Given the description of an element on the screen output the (x, y) to click on. 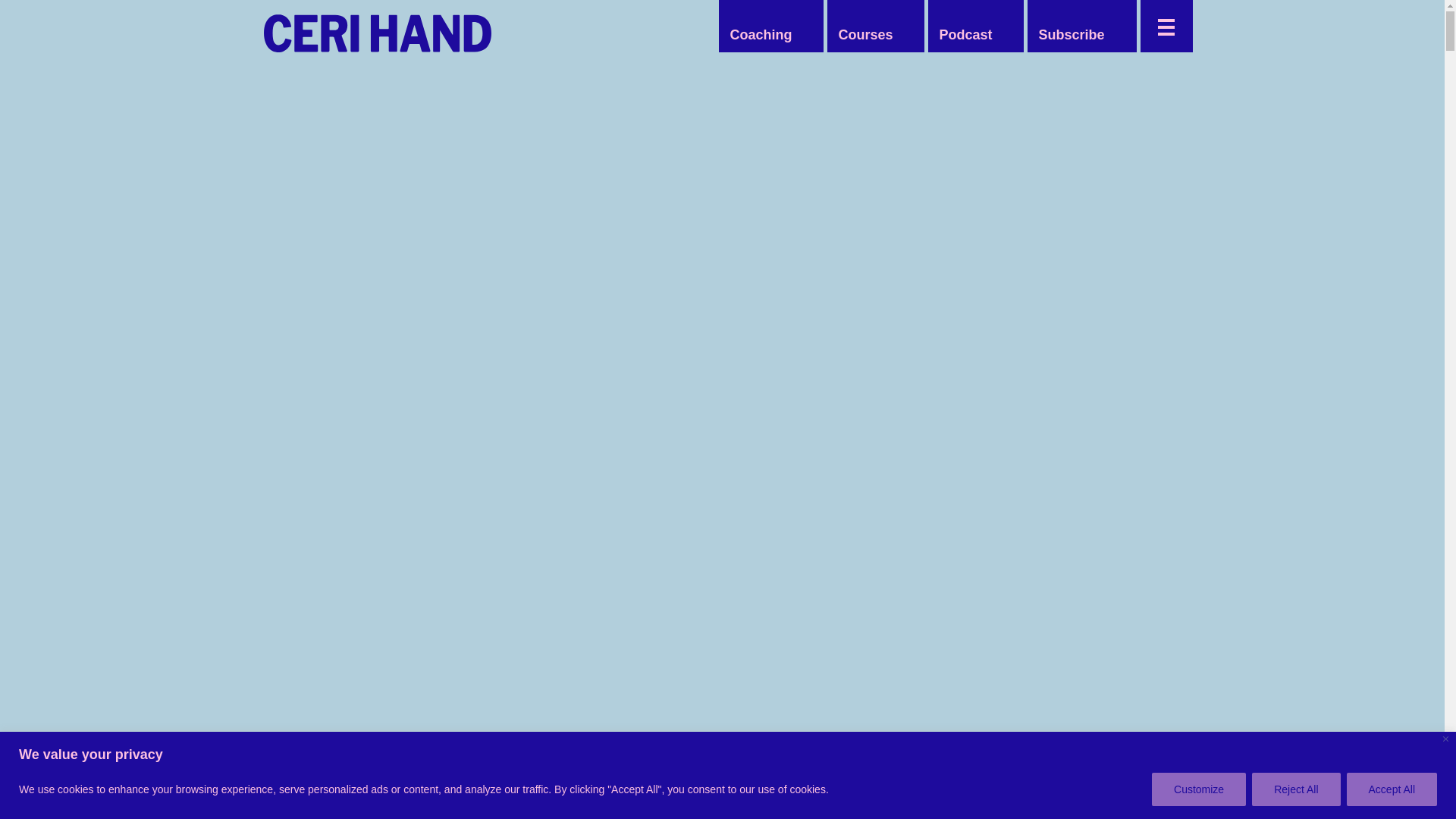
Accept All (1391, 788)
Podcast (964, 34)
Coaching (760, 34)
Reject All (1295, 788)
Courses (864, 34)
Subscribe (1070, 34)
Customize (1198, 788)
